Given the description of an element on the screen output the (x, y) to click on. 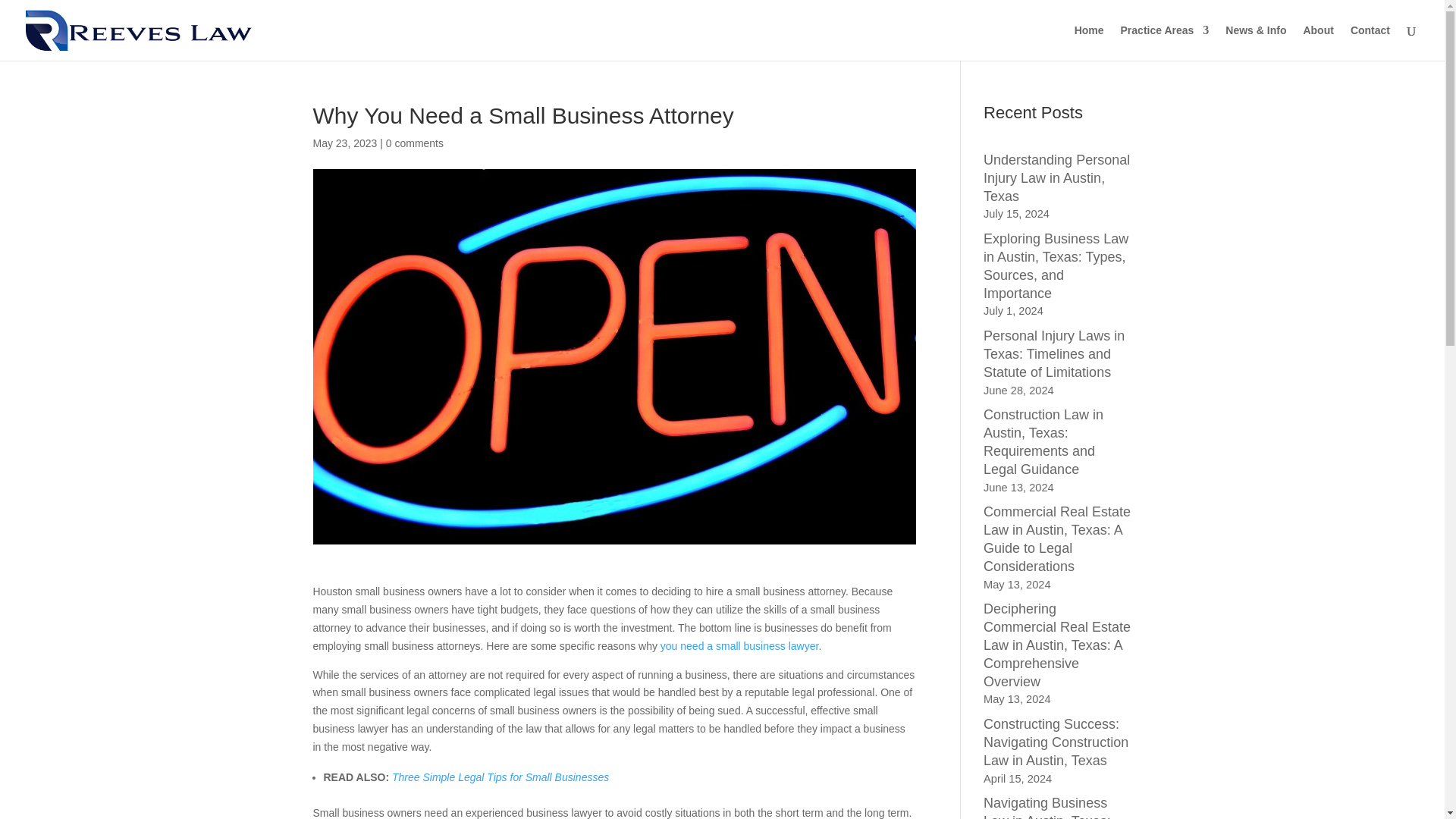
Practice Areas (1165, 42)
you need a small business lawyer (739, 645)
0 comments (414, 143)
Contact (1370, 42)
Understanding Personal Injury Law in Austin, Texas (1056, 177)
Three Simple Legal Tips for Small Businesses (499, 776)
